Given the description of an element on the screen output the (x, y) to click on. 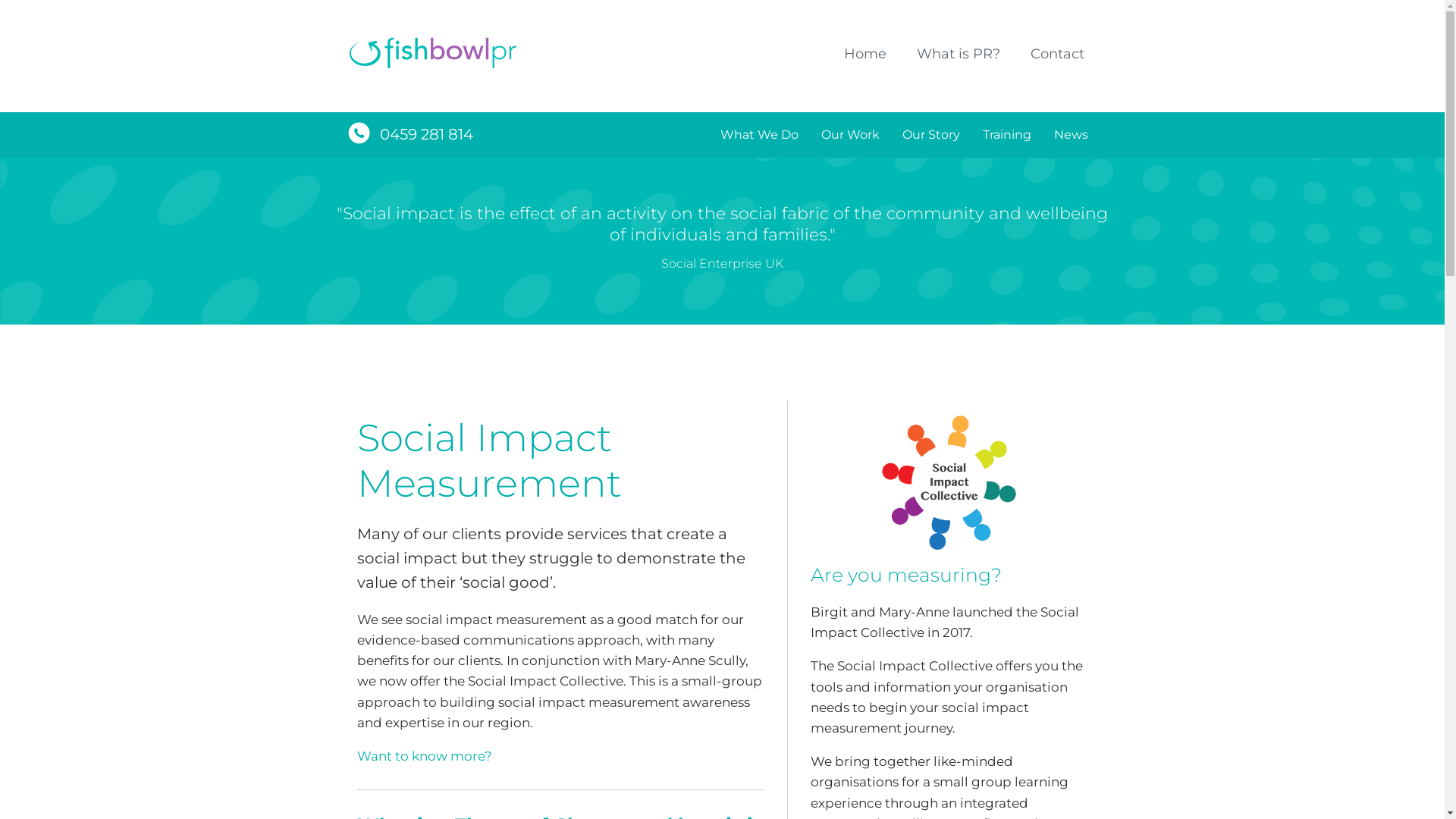
0459 281 814 Element type: text (425, 134)
What We Do Element type: text (758, 134)
News Element type: text (1069, 134)
What is PR? Element type: text (957, 54)
Training Element type: text (1005, 134)
Home Element type: text (864, 54)
Our Story Element type: text (930, 134)
Our Work Element type: text (850, 134)
Contact Element type: text (1056, 54)
Want to know more? Element type: text (423, 755)
